Given the description of an element on the screen output the (x, y) to click on. 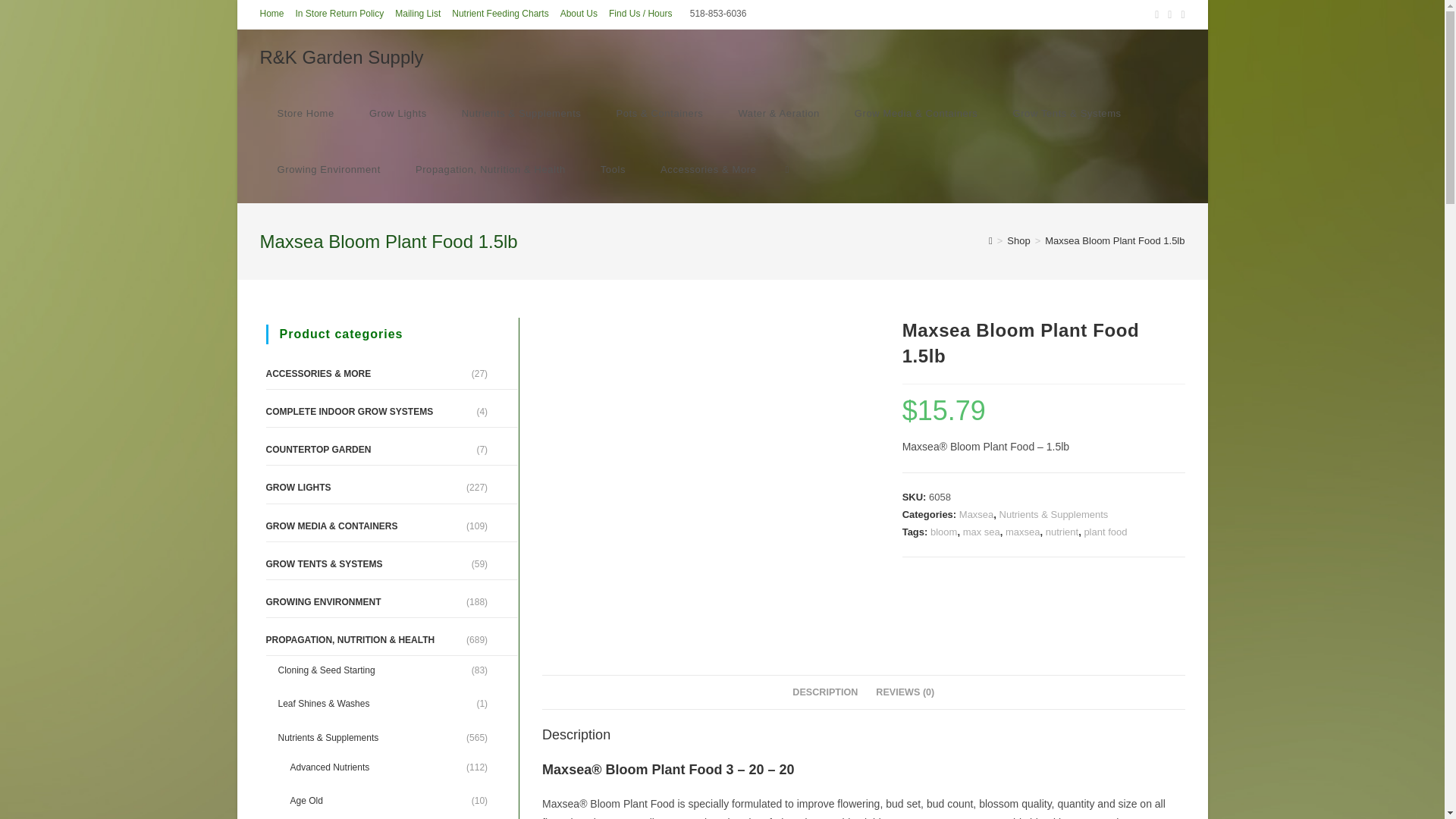
Home (271, 13)
Store Home (304, 113)
Growing Environment (328, 169)
Toggle website search (786, 169)
Nutrient Feeding Charts (499, 13)
In Store Return Policy (339, 13)
Mailing List (417, 13)
Grow Lights (398, 113)
About Us (578, 13)
Tools (613, 169)
